Given the description of an element on the screen output the (x, y) to click on. 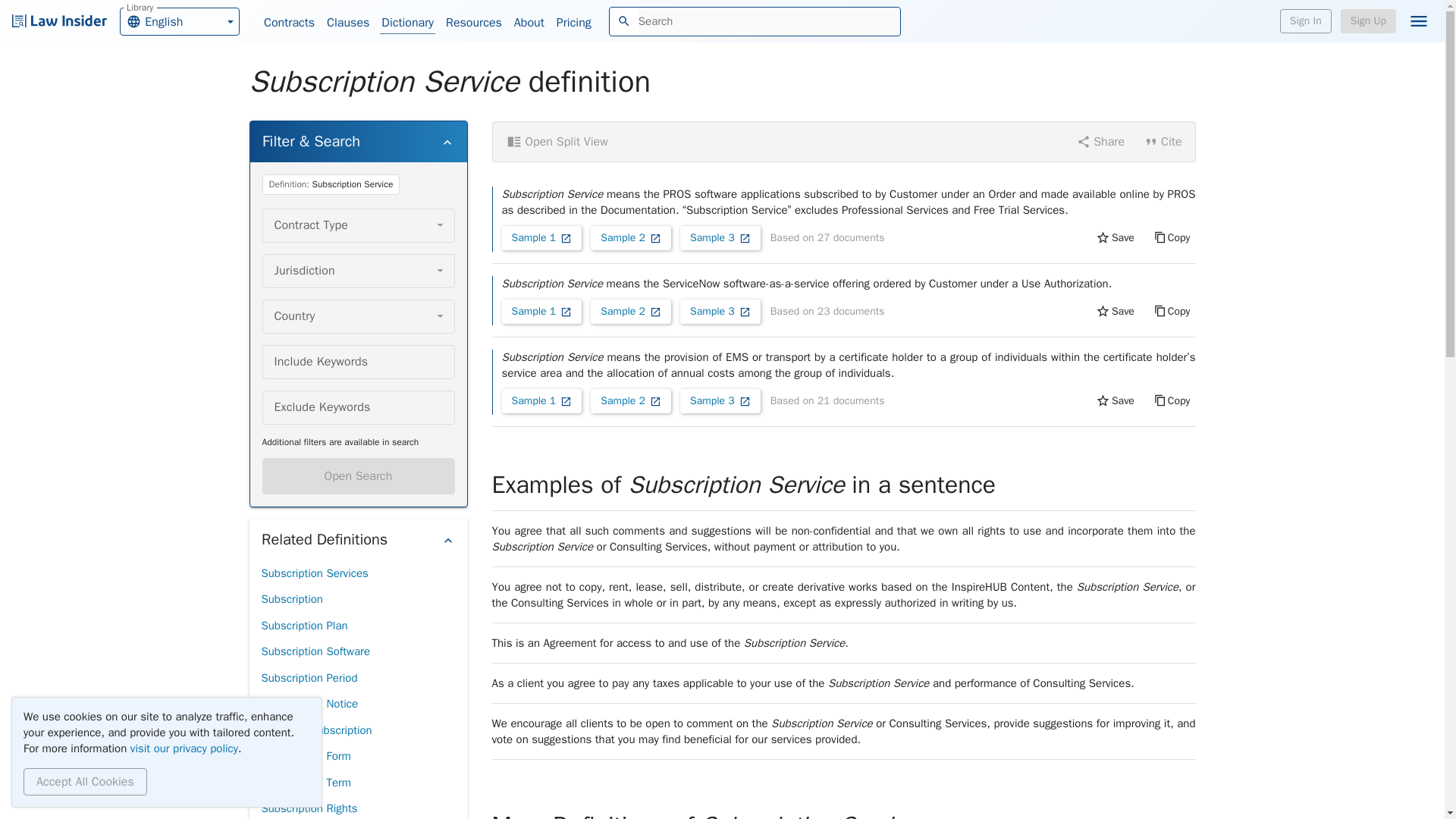
Open Search (358, 475)
Accept All Cookies (85, 781)
Pricing (573, 23)
Sign In (1305, 21)
Clauses (347, 23)
Subscription Services (314, 573)
Subscription Term (305, 782)
Resources (473, 23)
Dictionary (407, 23)
Subscription Rights (308, 807)
Minimum Subscription (315, 730)
visit our privacy policy (184, 748)
About (529, 23)
Subscription Notice (309, 704)
Subscription Form (305, 755)
